Given the description of an element on the screen output the (x, y) to click on. 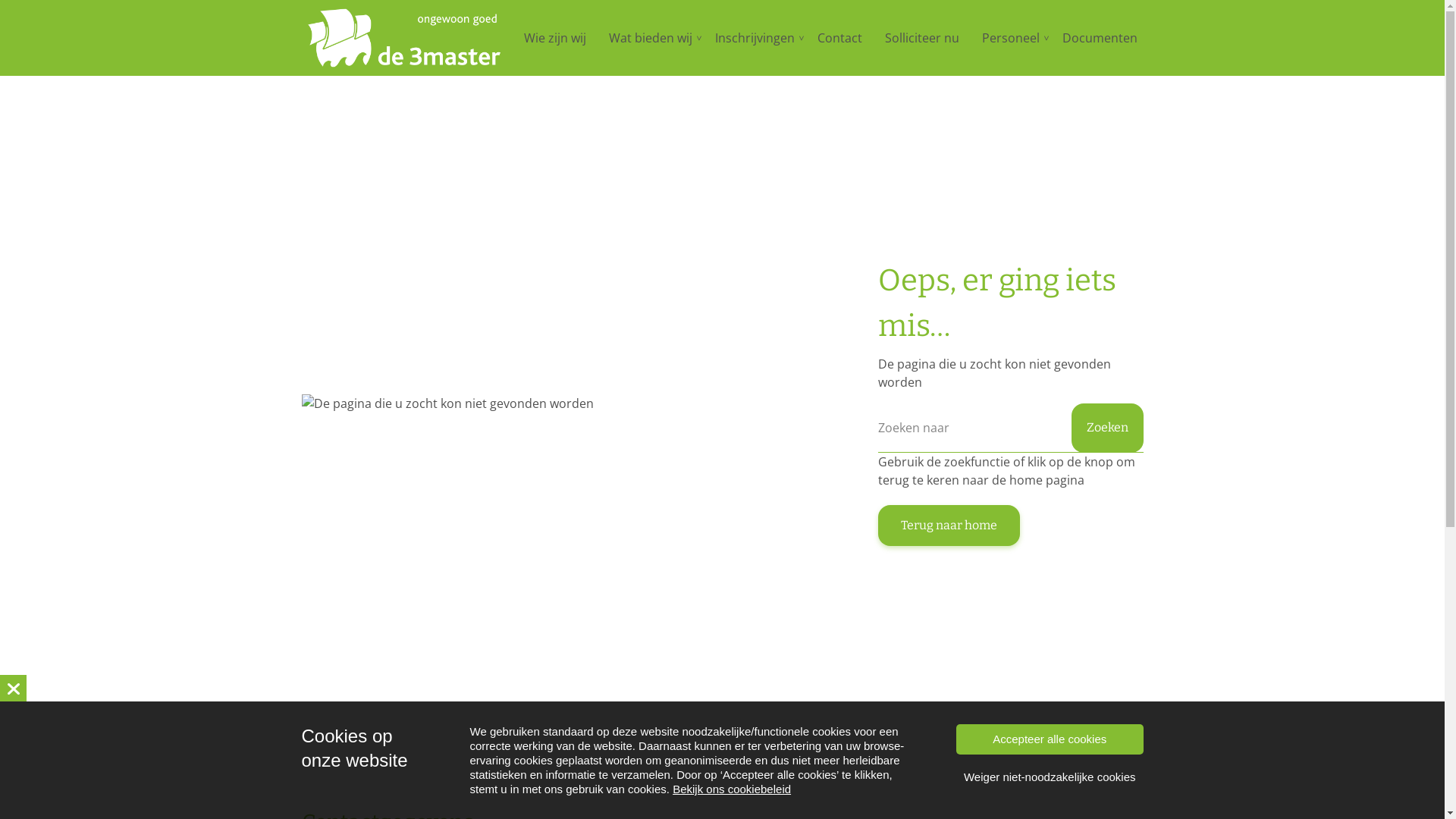
Bekijk ons cookiebeleid Element type: text (731, 788)
Wat bieden wij Element type: text (650, 37)
  Element type: text (13, 687)
Personeel Element type: text (1010, 37)
Documenten Element type: text (1099, 37)
GO! de 3master Element type: hover (404, 37)
Wie zijn wij Element type: text (554, 37)
Accepteer alle cookies Element type: text (1049, 739)
Weiger niet-noodzakelijke cookies Element type: text (1049, 777)
Inschrijvingen Element type: text (754, 37)
Terug naar home Element type: text (948, 525)
Solliciteer nu Element type: text (921, 37)
Contact Element type: text (839, 37)
Zoeken Element type: text (1106, 427)
